Given the description of an element on the screen output the (x, y) to click on. 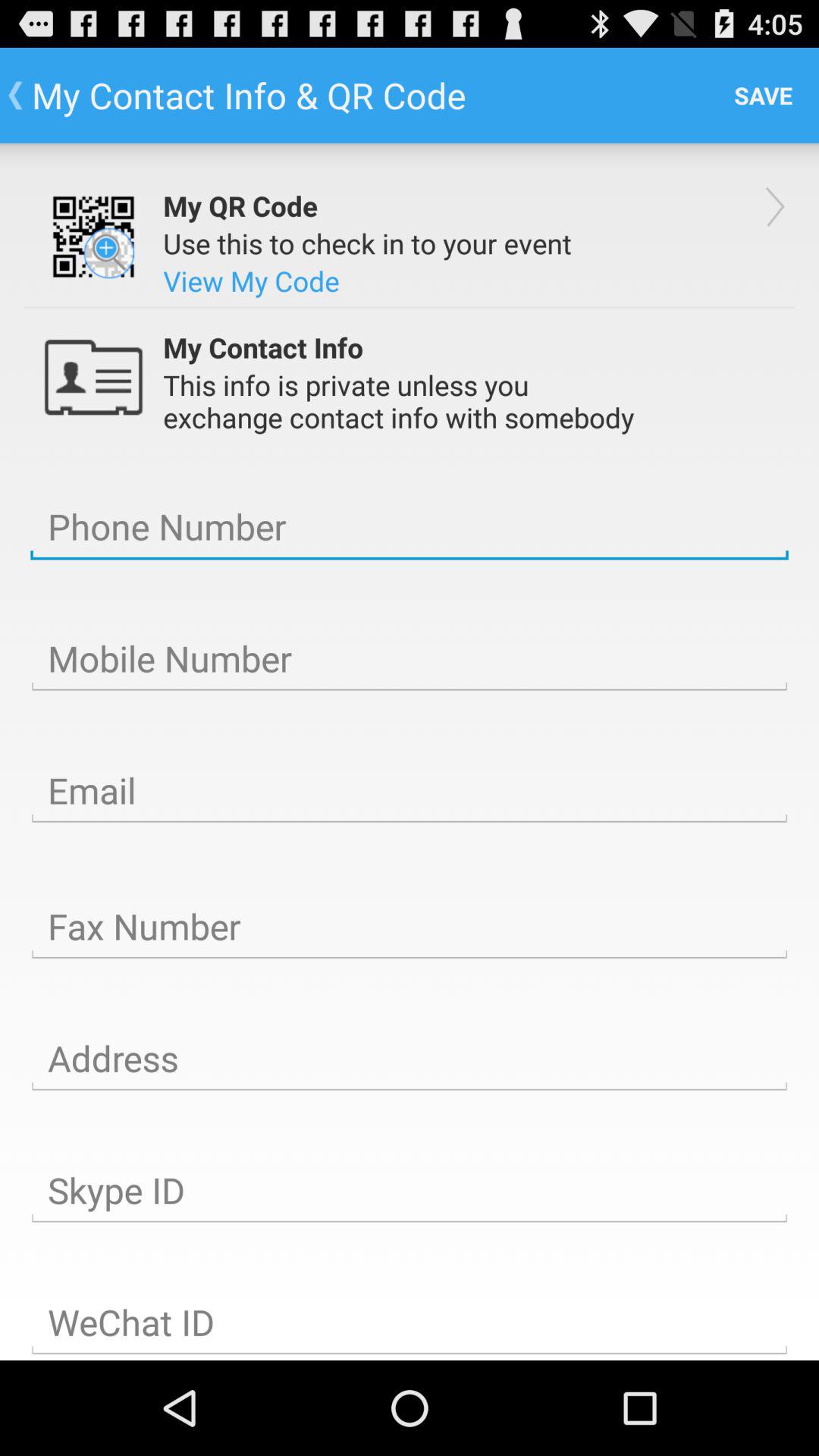
click the app to the right of the my contact info (763, 95)
